Given the description of an element on the screen output the (x, y) to click on. 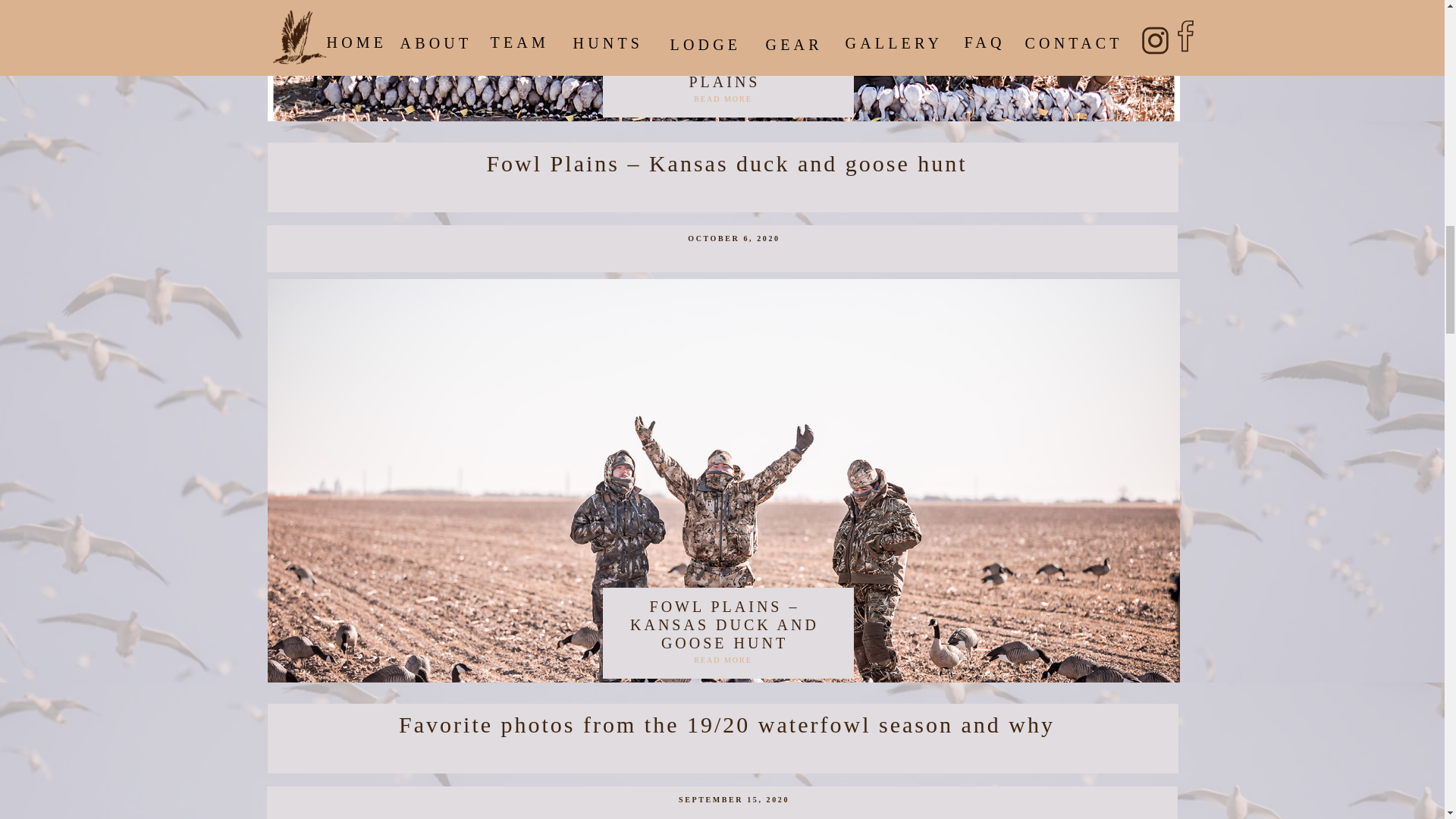
READ MORE (721, 665)
CENTRAL KANSAS SMASH WITH FOWL PLAINS (724, 63)
Central Kansas Smash with Fowl Plains (727, 71)
READ MORE (721, 104)
Central Kansas Smash with Fowl Plains (722, 65)
Central Kansas Smash with Fowl Plains (721, 104)
